Given the description of an element on the screen output the (x, y) to click on. 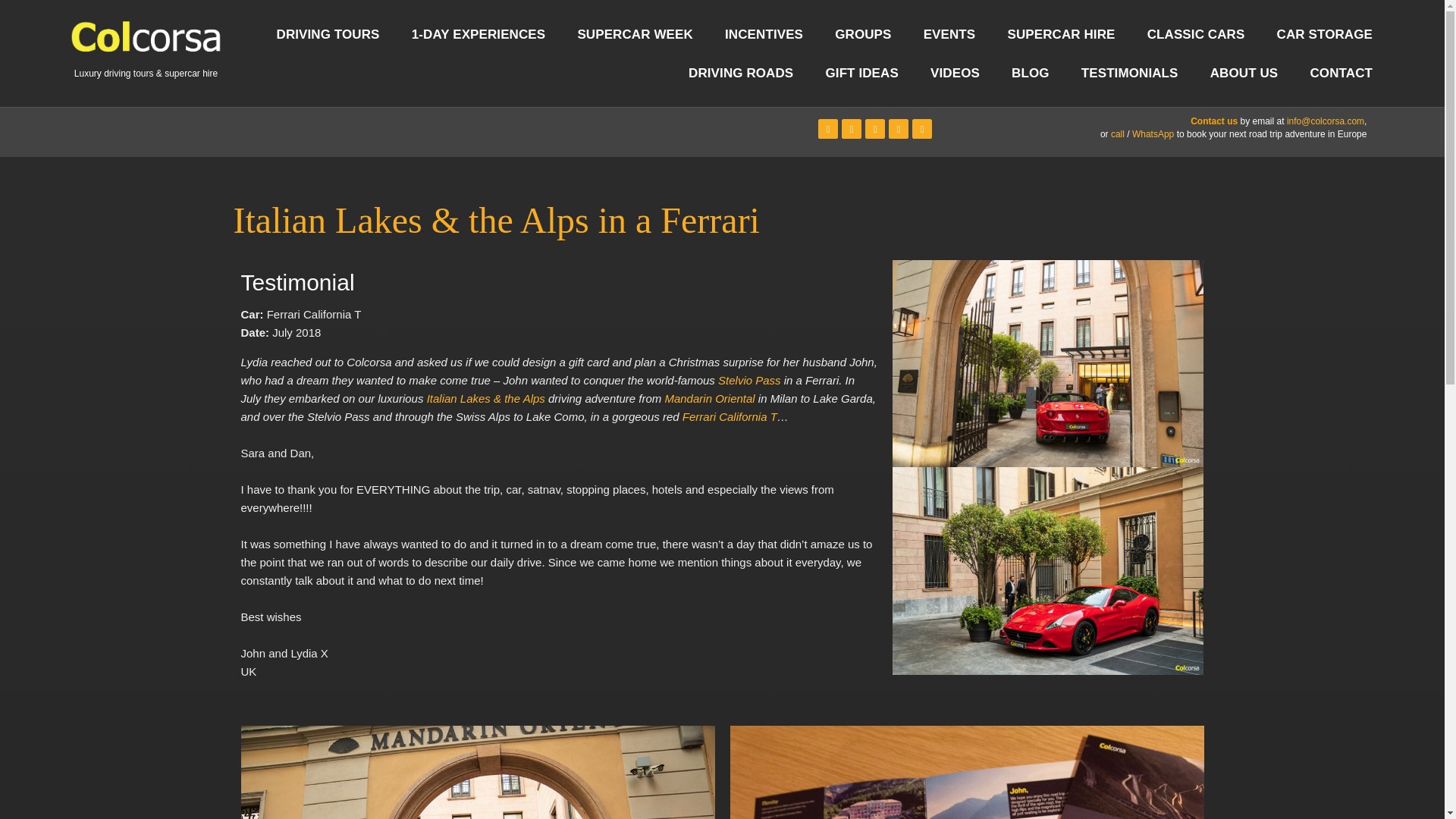
call (1117, 133)
TESTIMONIALS (1129, 72)
VIDEOS (954, 72)
DRIVING ROADS (741, 72)
Stelvio Pass (748, 379)
EVENTS (949, 34)
ABOUT US (1243, 72)
SUPERCAR HIRE (1060, 34)
INCENTIVES (763, 34)
SUPERCAR WEEK (634, 34)
GIFT IDEAS (861, 72)
CAR STORAGE (1324, 34)
CONTACT (1341, 72)
Ferrari California T (729, 416)
DRIVING TOURS (328, 34)
